Given the description of an element on the screen output the (x, y) to click on. 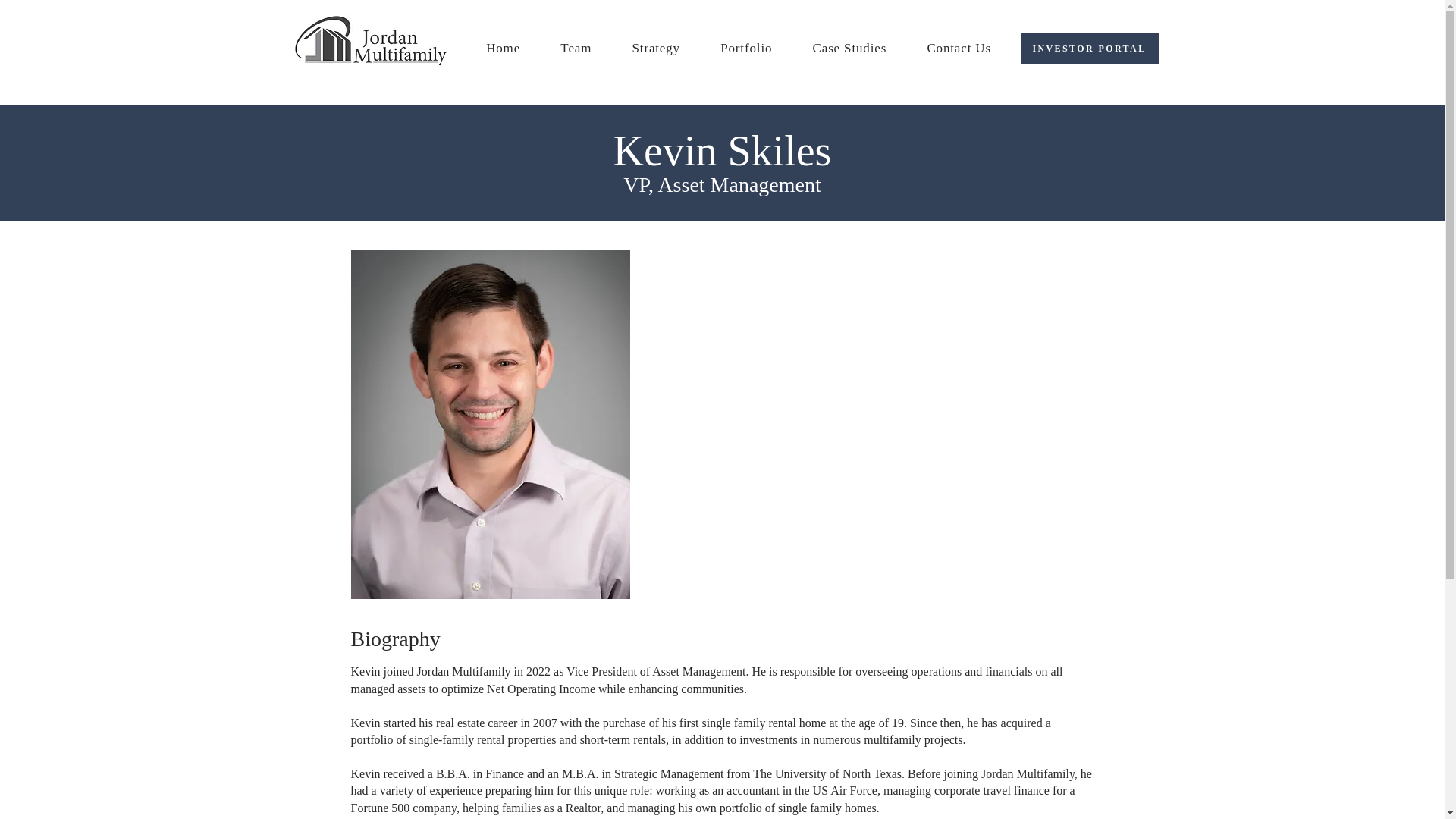
INVESTOR PORTAL (1089, 48)
Jordan Multifamily - Long Logo Social.jp (369, 41)
Team (575, 48)
Case Studies (849, 48)
Portfolio (746, 48)
Strategy (655, 48)
Contact Us (959, 48)
Home (502, 48)
